Given the description of an element on the screen output the (x, y) to click on. 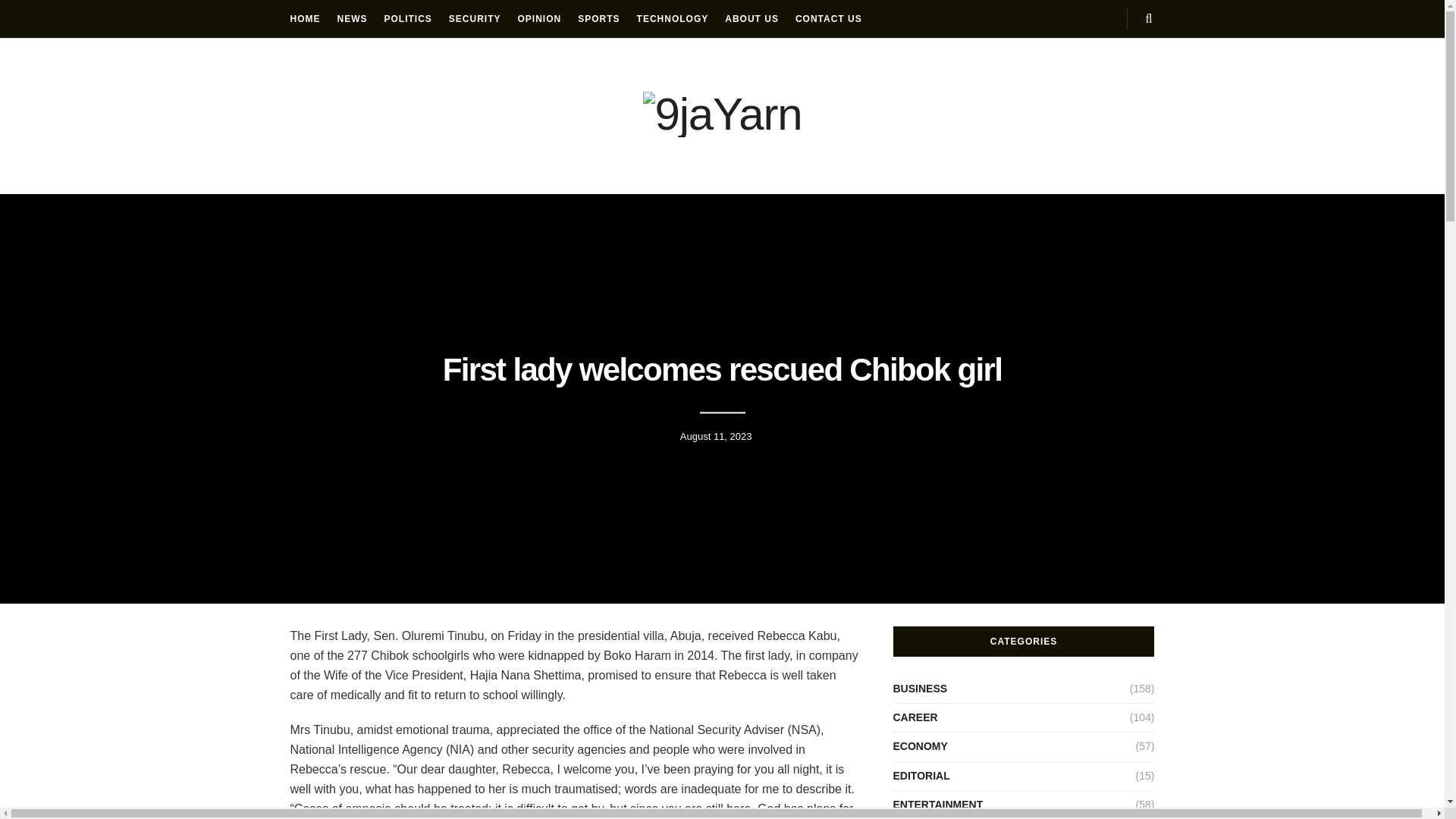
SECURITY (474, 18)
TECHNOLOGY (673, 18)
SPORTS (599, 18)
CONTACT US (827, 18)
OPINION (540, 18)
ABOUT US (751, 18)
POLITICS (407, 18)
